Given the description of an element on the screen output the (x, y) to click on. 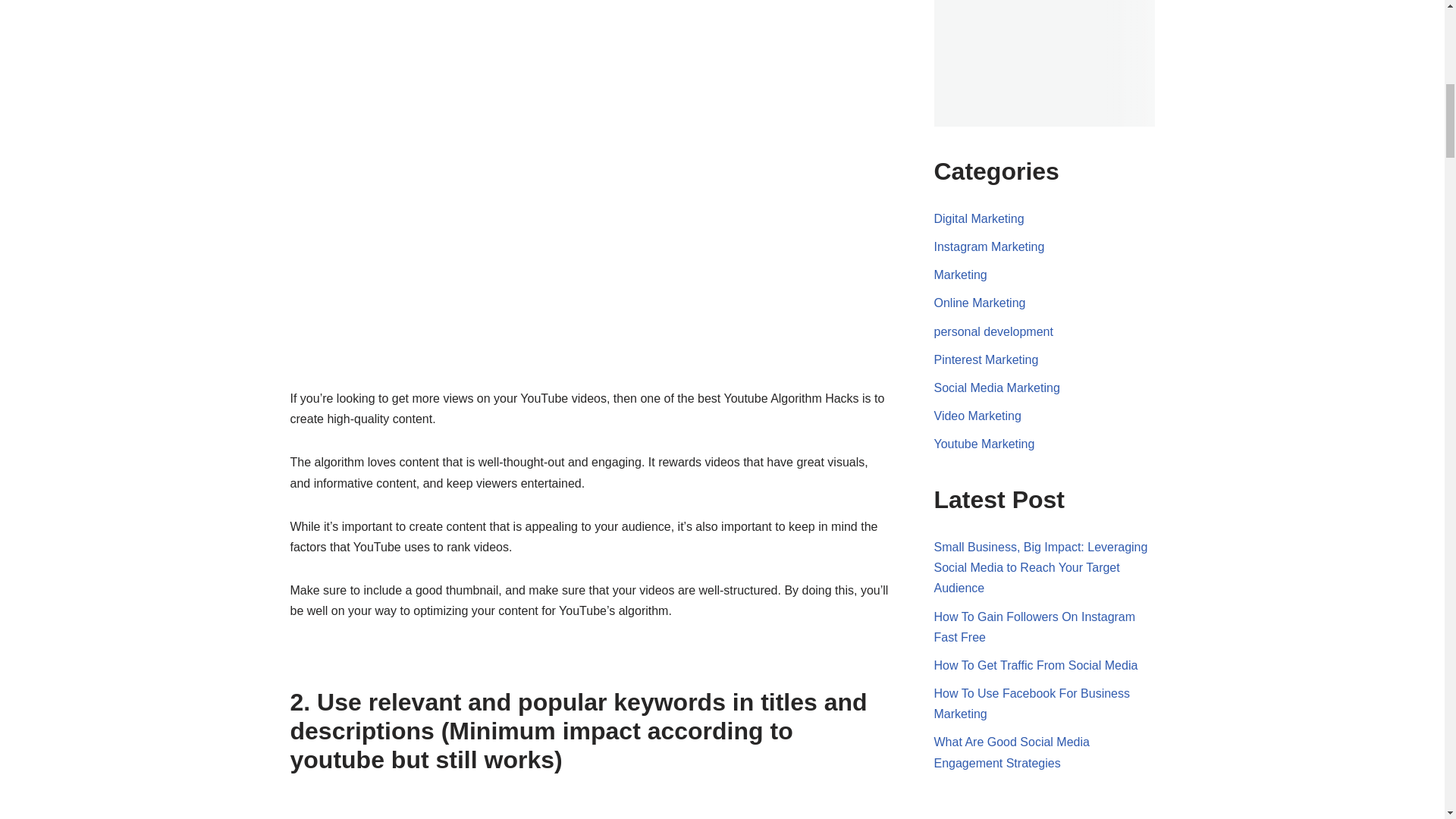
Instagram Marketing (989, 246)
Video Marketing (978, 415)
Pinterest Marketing (986, 359)
Online Marketing (980, 302)
Digital Marketing (979, 218)
Marketing (960, 274)
personal development (993, 331)
Social Media Marketing (996, 387)
